Given the description of an element on the screen output the (x, y) to click on. 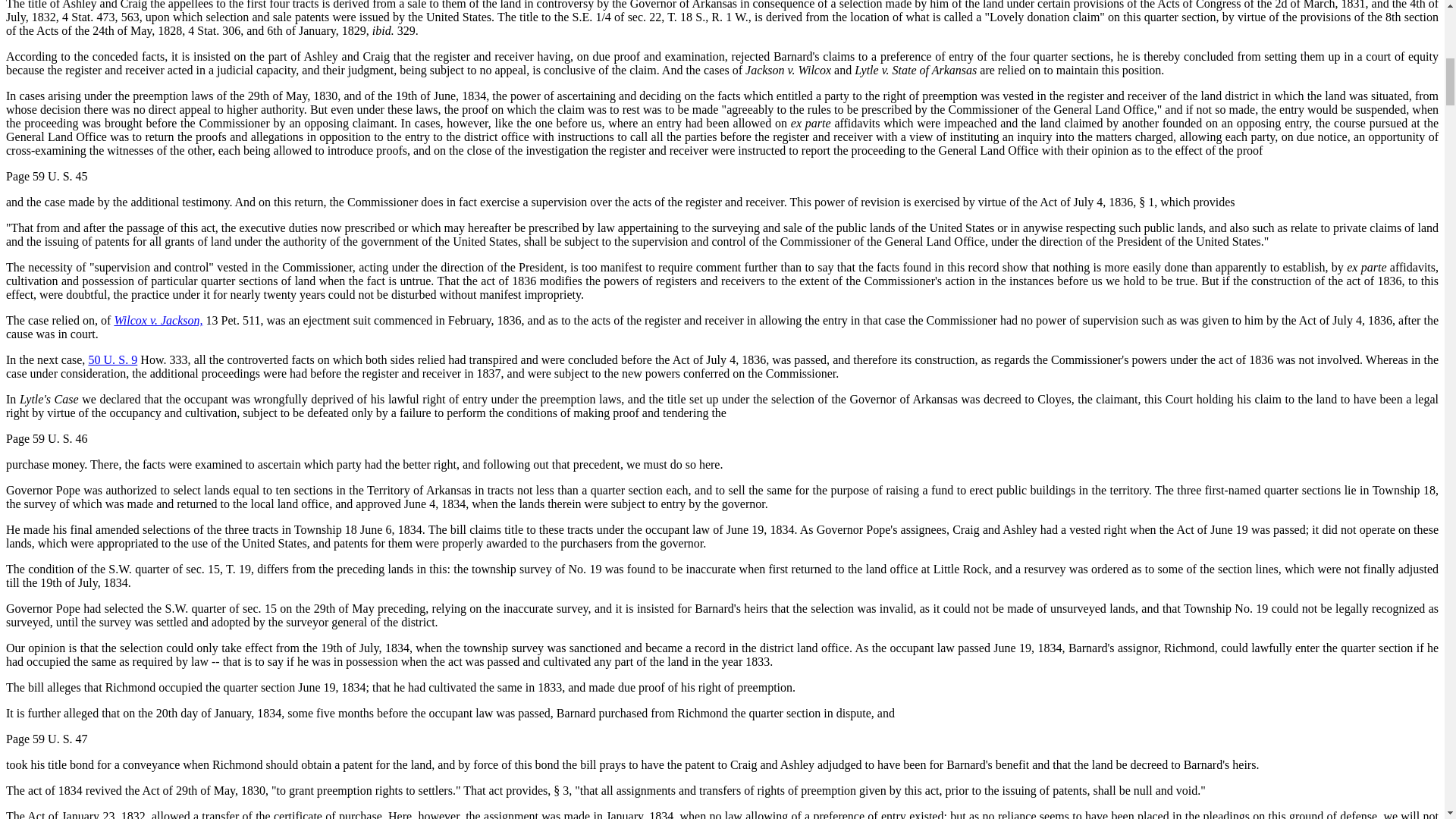
50 U. S. 9 (111, 359)
Page 59 U. S. 46 (46, 438)
Page 59 U. S. 47 (46, 738)
Wilcox v. Jackson, (157, 319)
Page 59 U. S. 45 (46, 175)
